Given the description of an element on the screen output the (x, y) to click on. 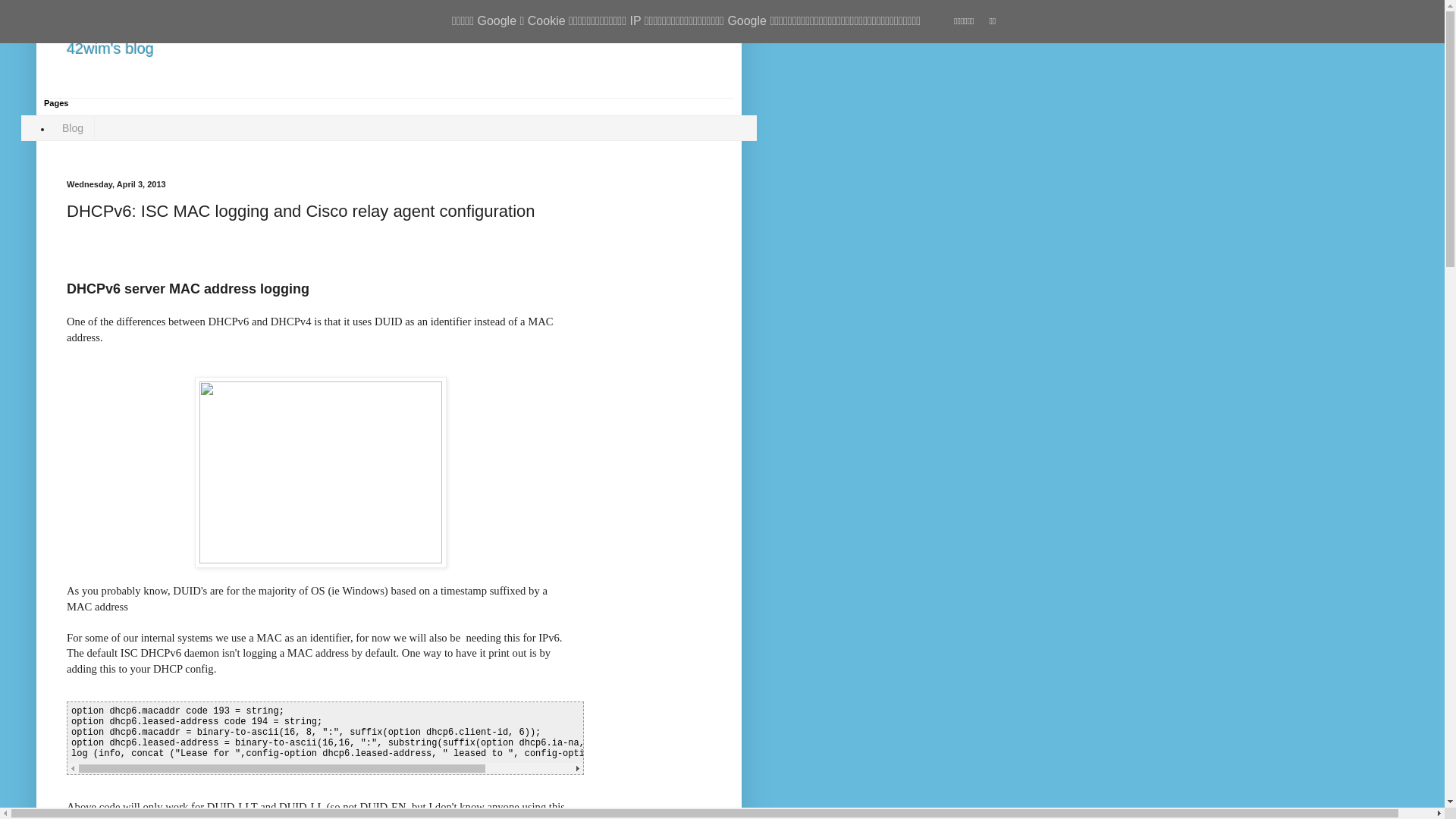
42wim's blog Element type: text (109, 48)
Blog Element type: text (72, 128)
